Given the description of an element on the screen output the (x, y) to click on. 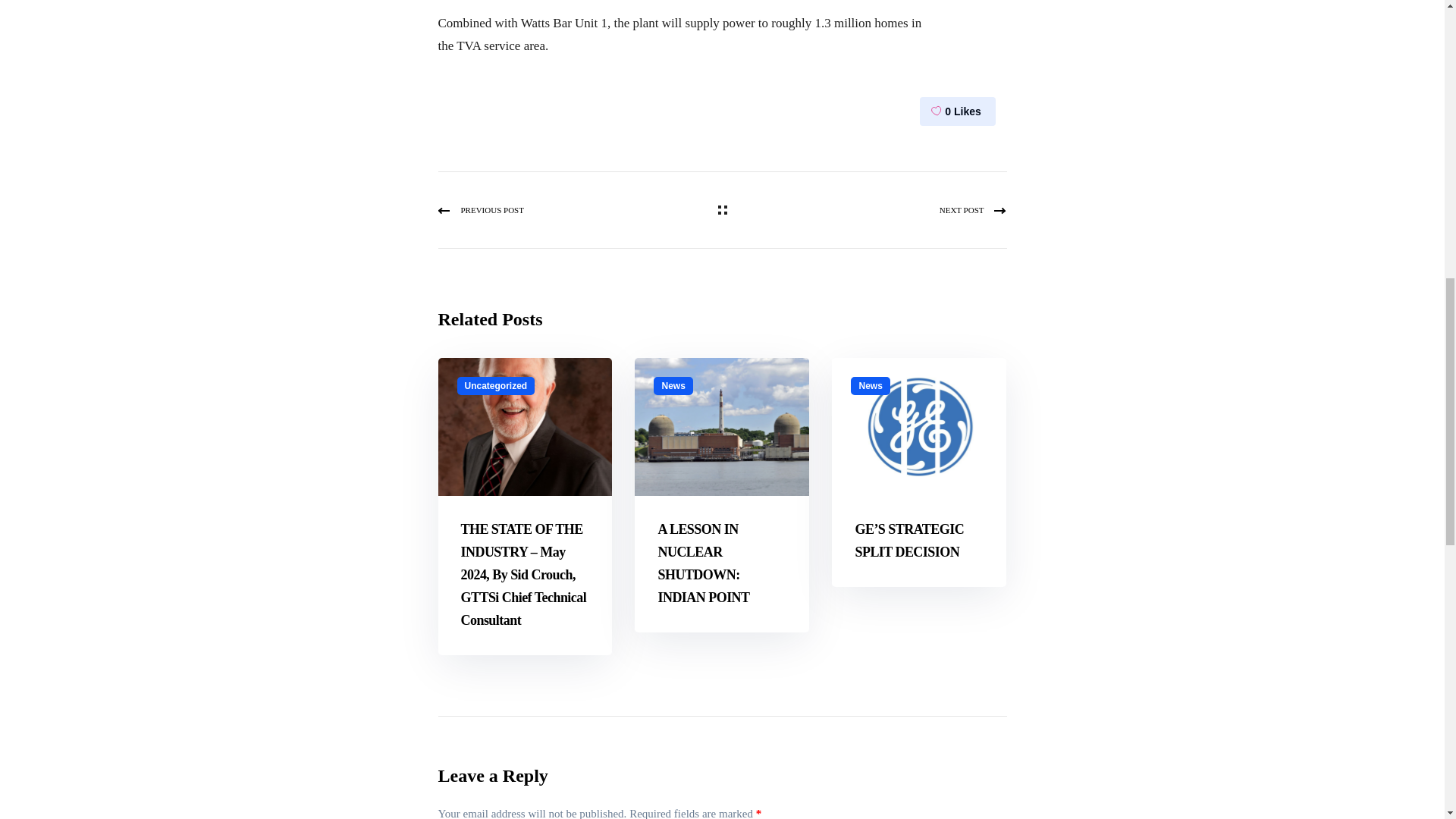
A LESSON IN NUCLEAR SHUTDOWN: INDIAN POINT (703, 563)
0Likes (956, 111)
Like this (956, 111)
PREVIOUS POST (576, 209)
NEXT POST (867, 209)
News (869, 384)
Uncategorized (495, 384)
News (673, 384)
